Given the description of an element on the screen output the (x, y) to click on. 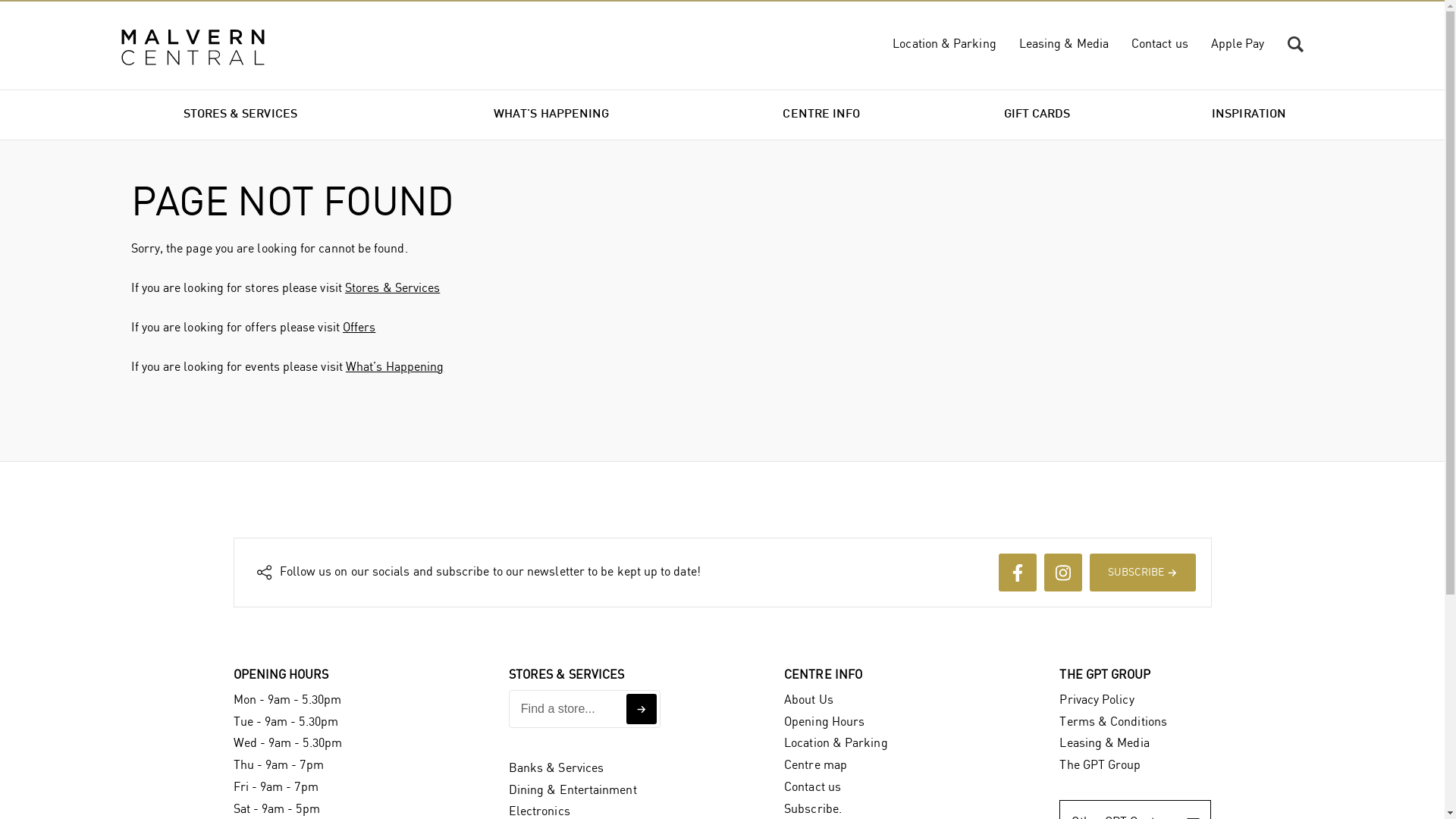
STORES & SERVICES Element type: text (240, 114)
SUBSCRIBE Element type: text (1141, 572)
Electronics Element type: text (539, 811)
INSPIRATION Element type: text (1248, 114)
The GPT Group Element type: text (1099, 765)
WHAT'S HAPPENING Element type: text (551, 114)
Centre map Element type: text (815, 765)
About Us Element type: text (808, 699)
GIFT CARDS Element type: text (1036, 114)
Opening Hours Element type: text (824, 721)
CENTRE INFO Element type: text (822, 114)
Location & Parking Element type: text (835, 743)
Offers Element type: text (358, 327)
Apple Pay Element type: text (1237, 43)
Leasing & Media Element type: text (1103, 743)
Location & Parking Element type: text (944, 43)
Leasing & Media Element type: text (1063, 43)
Stores & Services Element type: text (392, 288)
Contact us Element type: text (812, 787)
Contact us Element type: text (1159, 43)
Privacy Policy Element type: text (1096, 699)
Banks & Services Element type: text (555, 768)
Subscribe. Element type: text (812, 809)
Terms & Conditions Element type: text (1112, 721)
Dining & Entertainment Element type: text (572, 790)
